Given the description of an element on the screen output the (x, y) to click on. 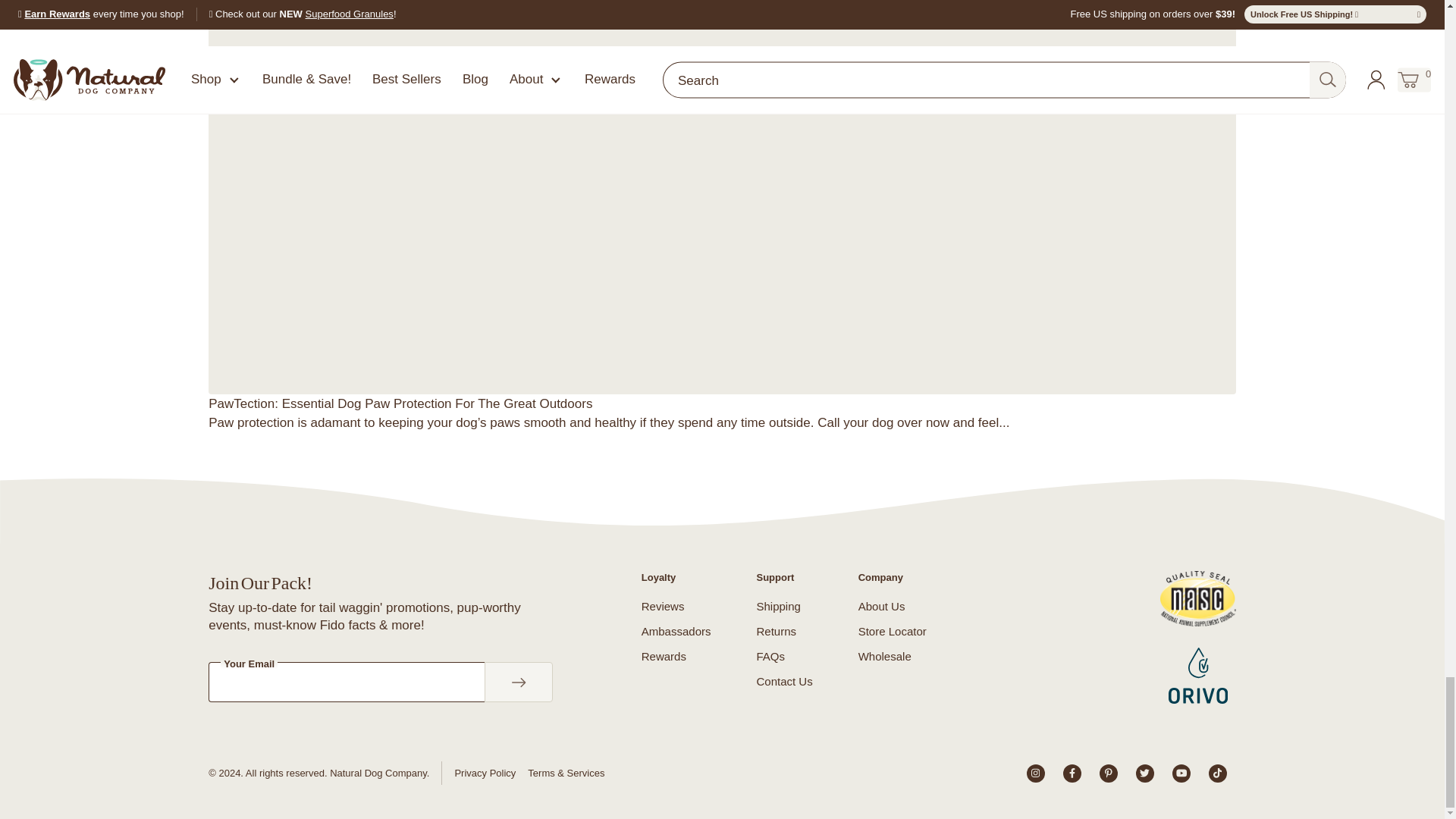
Pinterest (1108, 773)
Instagram (1035, 773)
YouTube (1181, 773)
Facebook (1072, 773)
Twitter (1144, 773)
TikTok (1217, 773)
